Given the description of an element on the screen output the (x, y) to click on. 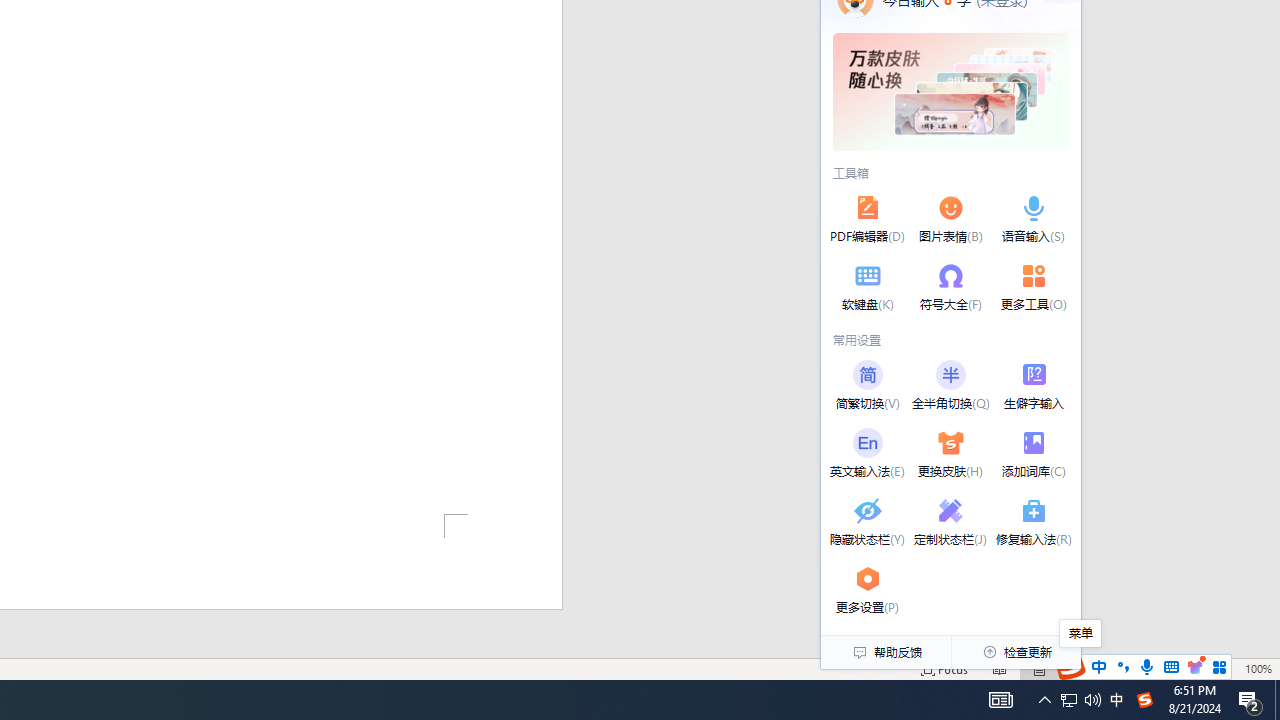
Zoom 100% (1258, 668)
